Given the description of an element on the screen output the (x, y) to click on. 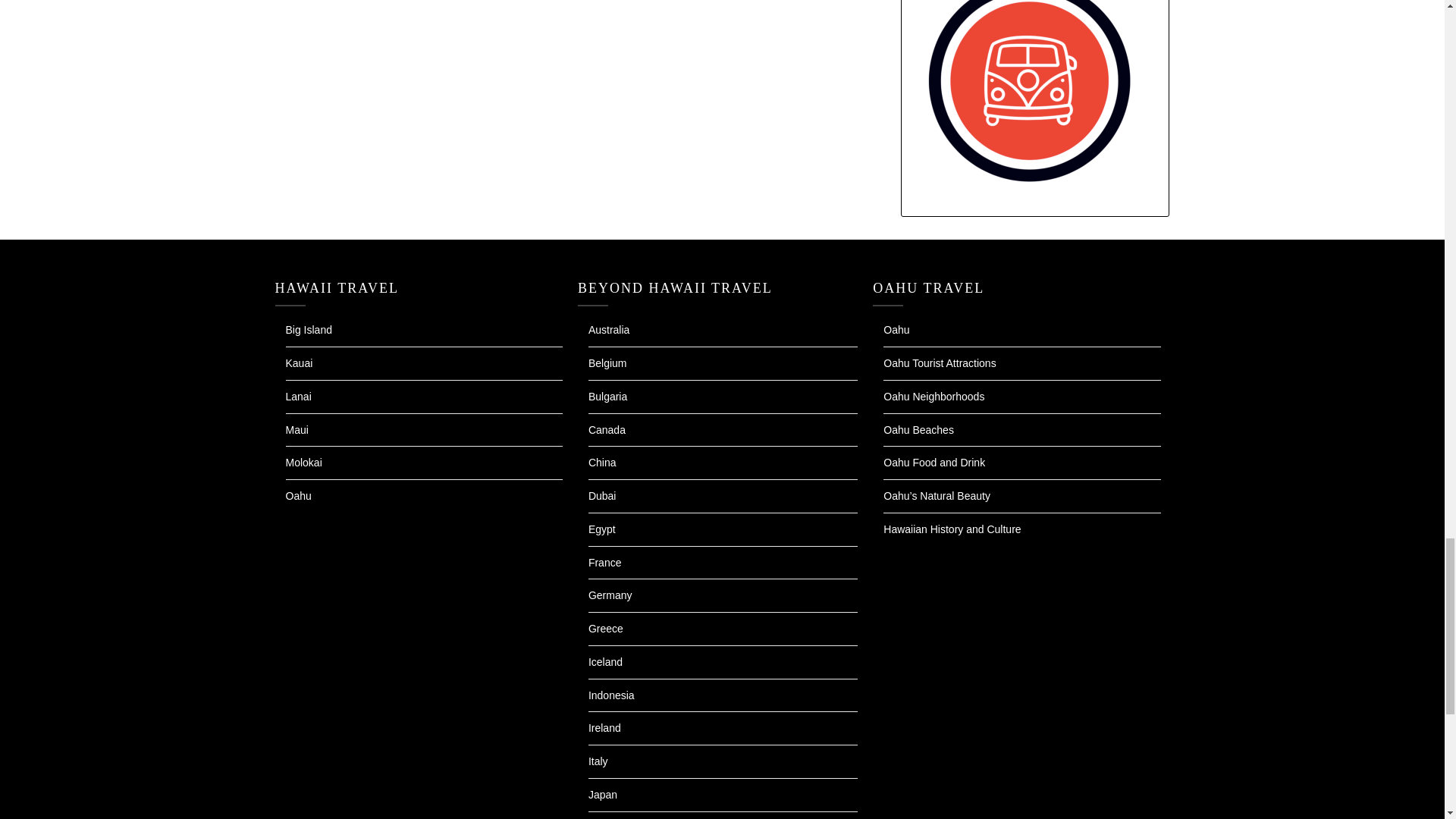
Kauai (299, 363)
Lanai (298, 396)
Belgium (607, 363)
Australia (608, 329)
Bulgaria (607, 396)
Maui (296, 429)
Big Island (308, 329)
Oahu (298, 495)
Molokai (303, 462)
